Given the description of an element on the screen output the (x, y) to click on. 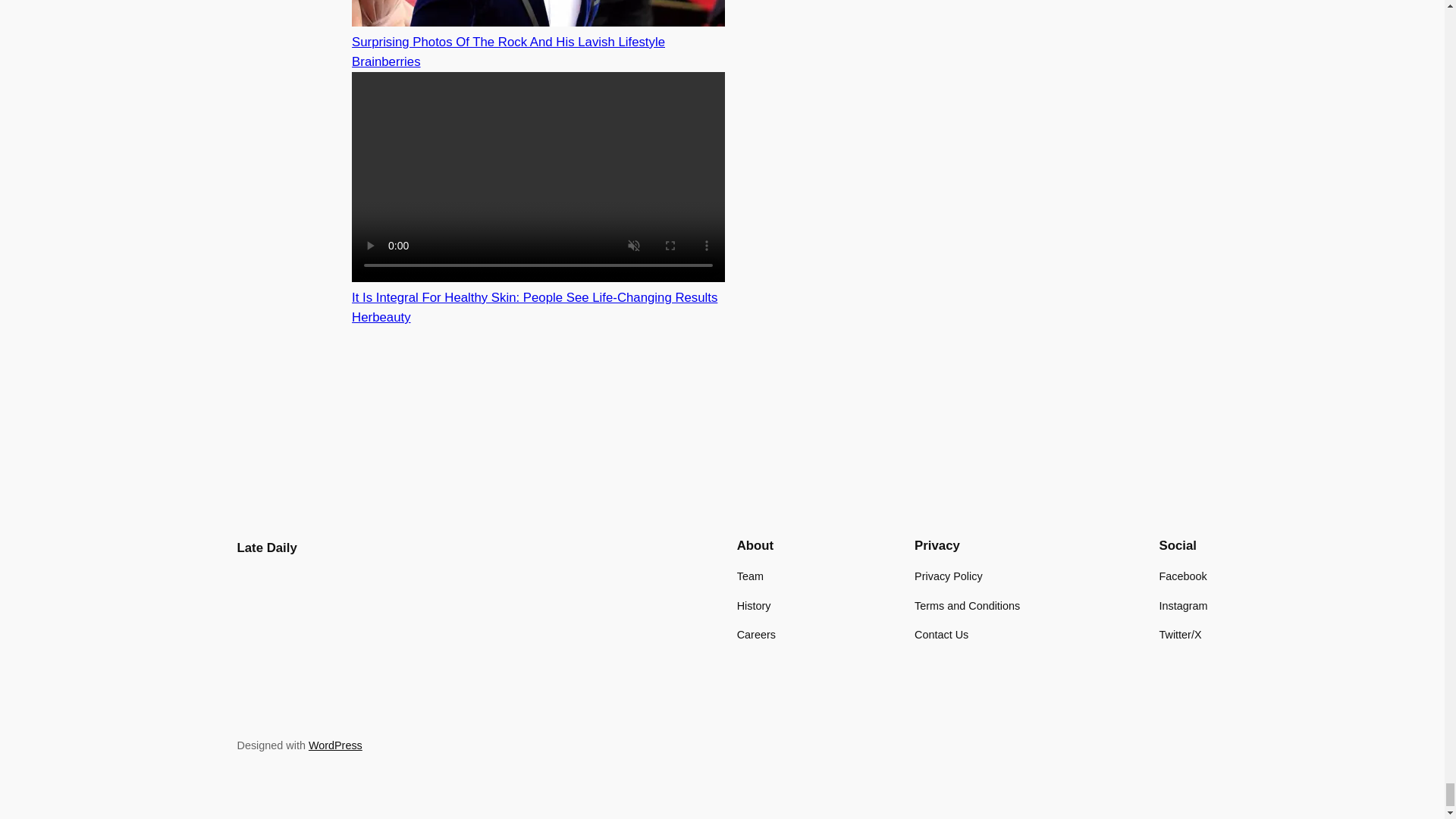
Late Daily (266, 547)
Team (749, 576)
History (753, 605)
Terms and Conditions (967, 605)
Careers (756, 634)
Contact Us (941, 634)
Privacy Policy (948, 576)
